Given the description of an element on the screen output the (x, y) to click on. 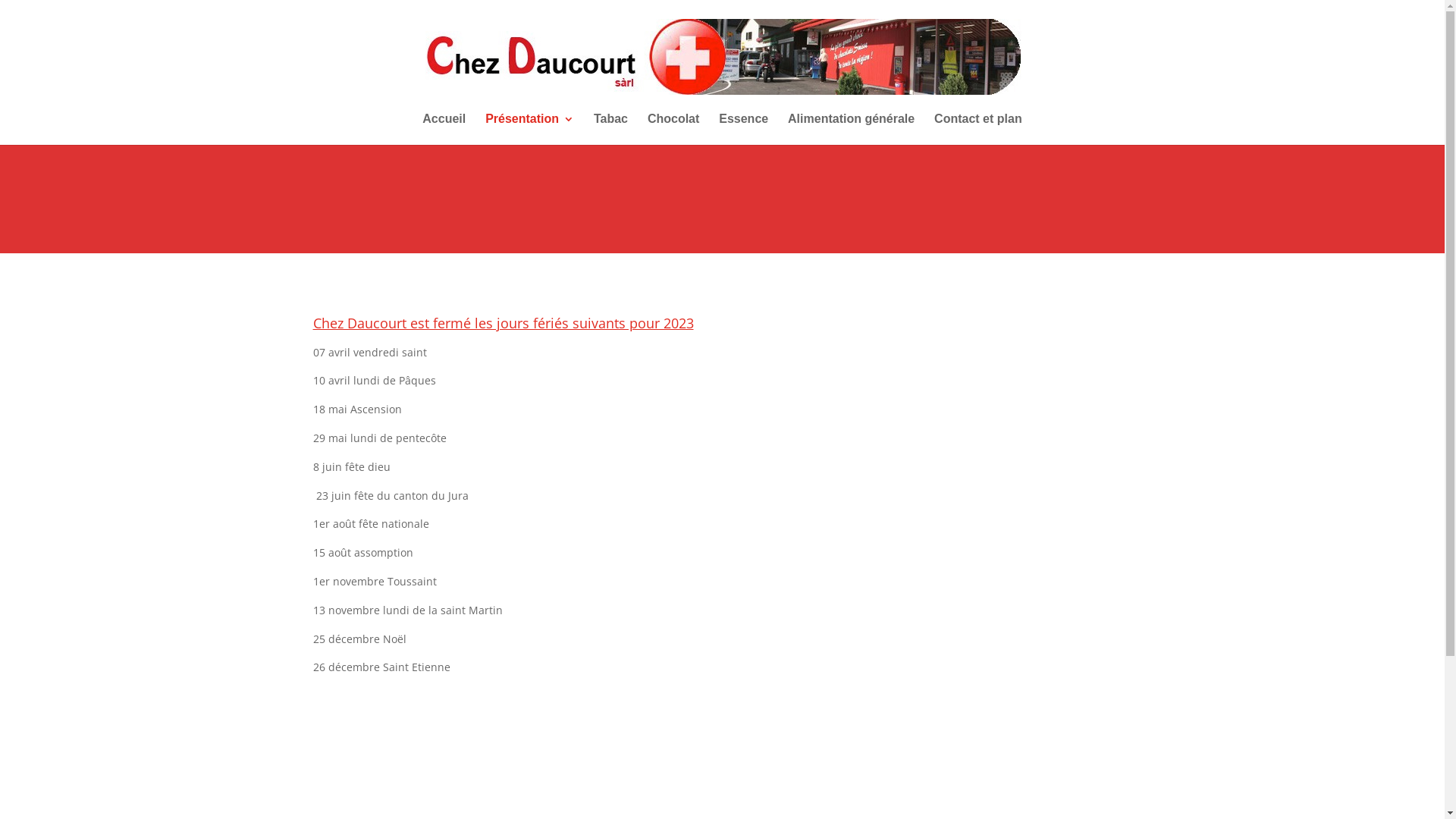
Chocolat Element type: text (673, 128)
Accueil Element type: text (443, 128)
Essence Element type: text (743, 128)
Tabac Element type: text (610, 128)
Contact et plan Element type: text (978, 128)
